Given the description of an element on the screen output the (x, y) to click on. 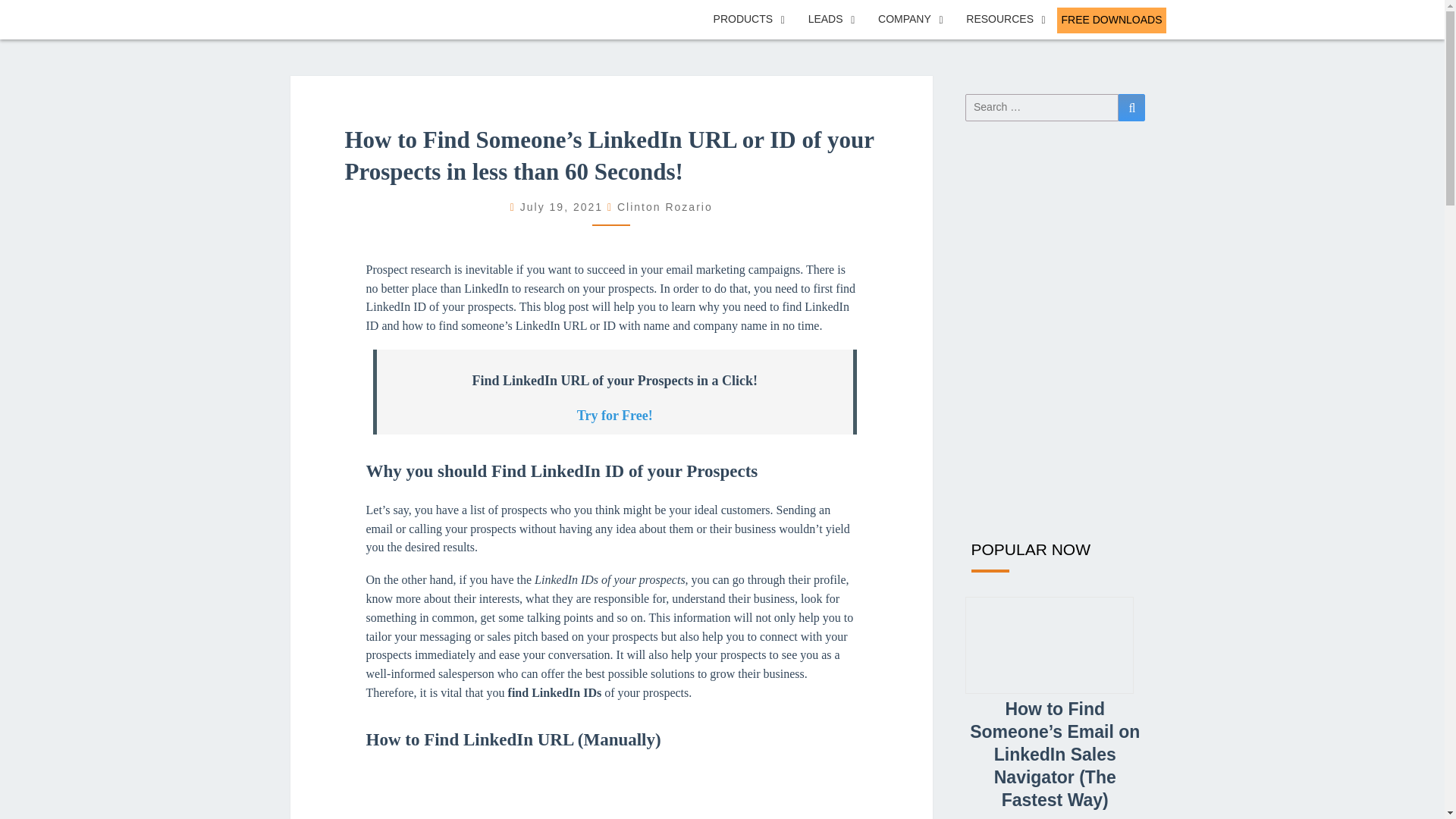
How to Find LinkedIn URL (611, 791)
Search (1131, 107)
COMPANY (910, 19)
Try for Free! (614, 415)
RESOURCES (1006, 19)
FREE DOWNLOADS (1111, 20)
Clinton Rozario (665, 206)
PRODUCTS (748, 19)
9:02 pm (563, 206)
View all posts by Clinton Rozario (665, 206)
July 19, 2021 (563, 206)
FREE Downloads (1111, 20)
LEADS (831, 19)
